Given the description of an element on the screen output the (x, y) to click on. 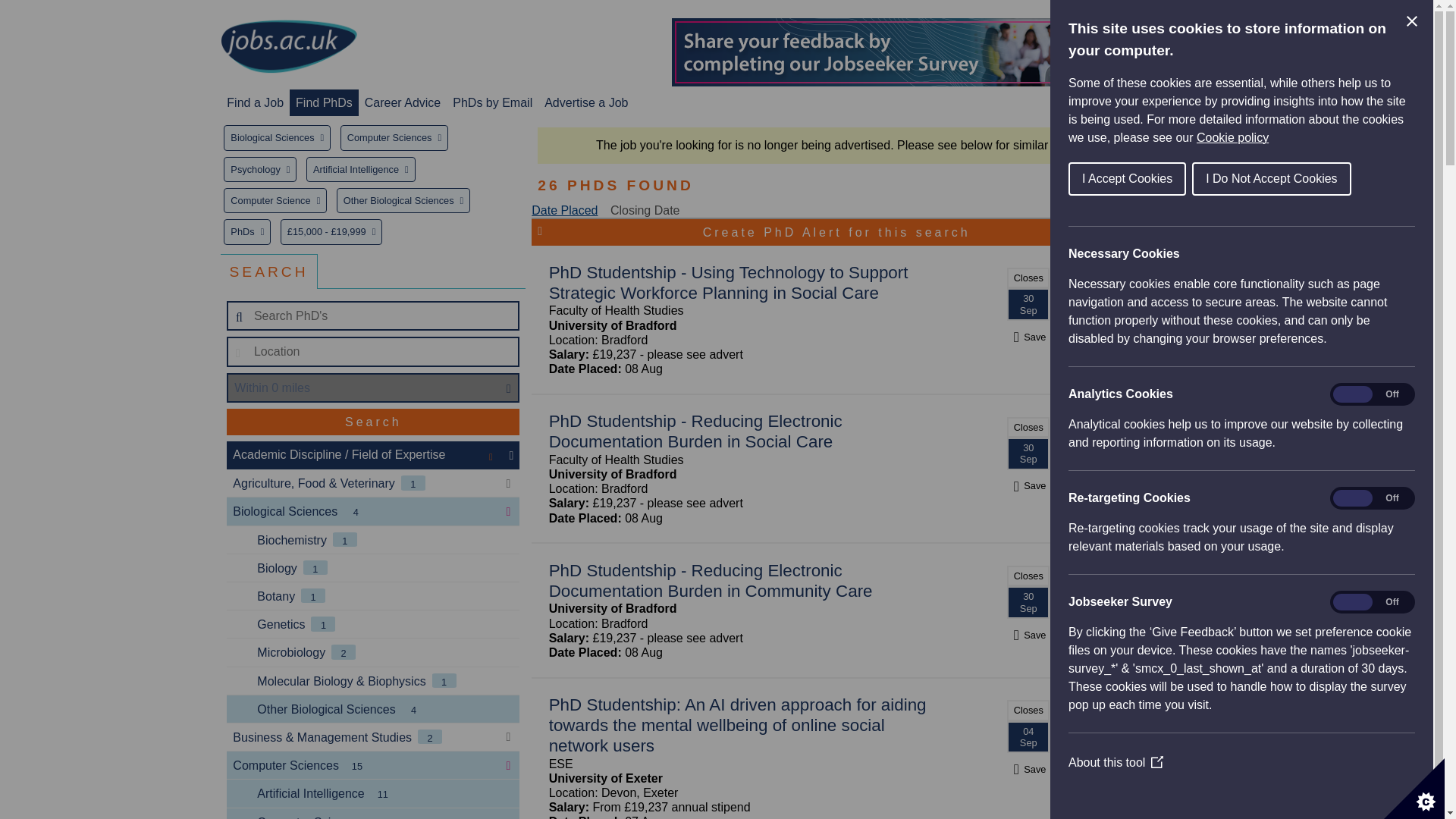
Career Advice (403, 102)
Your Account (1106, 102)
PhDs by Email (492, 102)
Search (373, 421)
Find PhDs (323, 102)
home page (288, 47)
distance (373, 387)
Save job (1027, 485)
Closing Date (644, 210)
Save job (1027, 336)
